Given the description of an element on the screen output the (x, y) to click on. 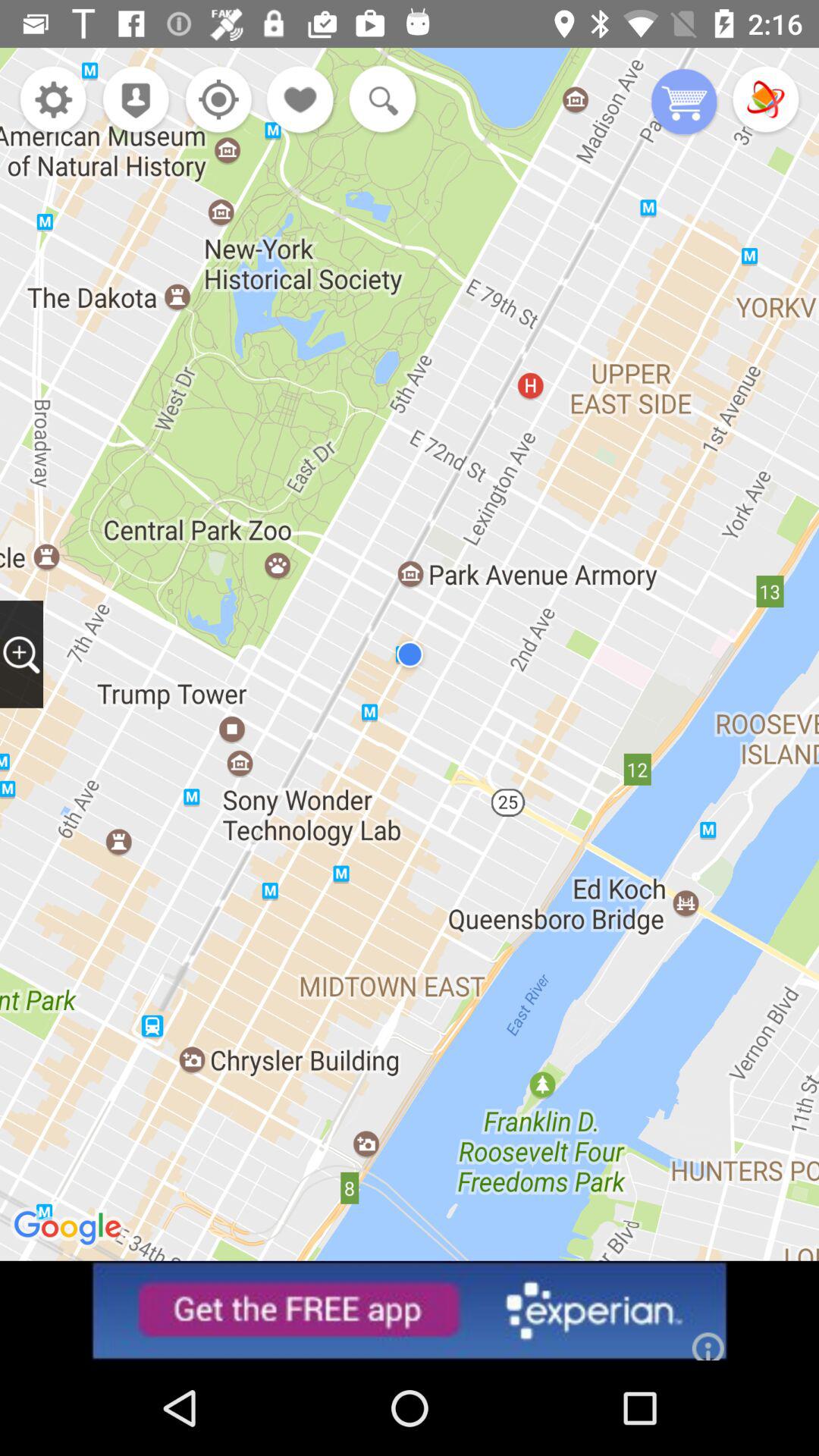
options and settings for map (52, 100)
